Given the description of an element on the screen output the (x, y) to click on. 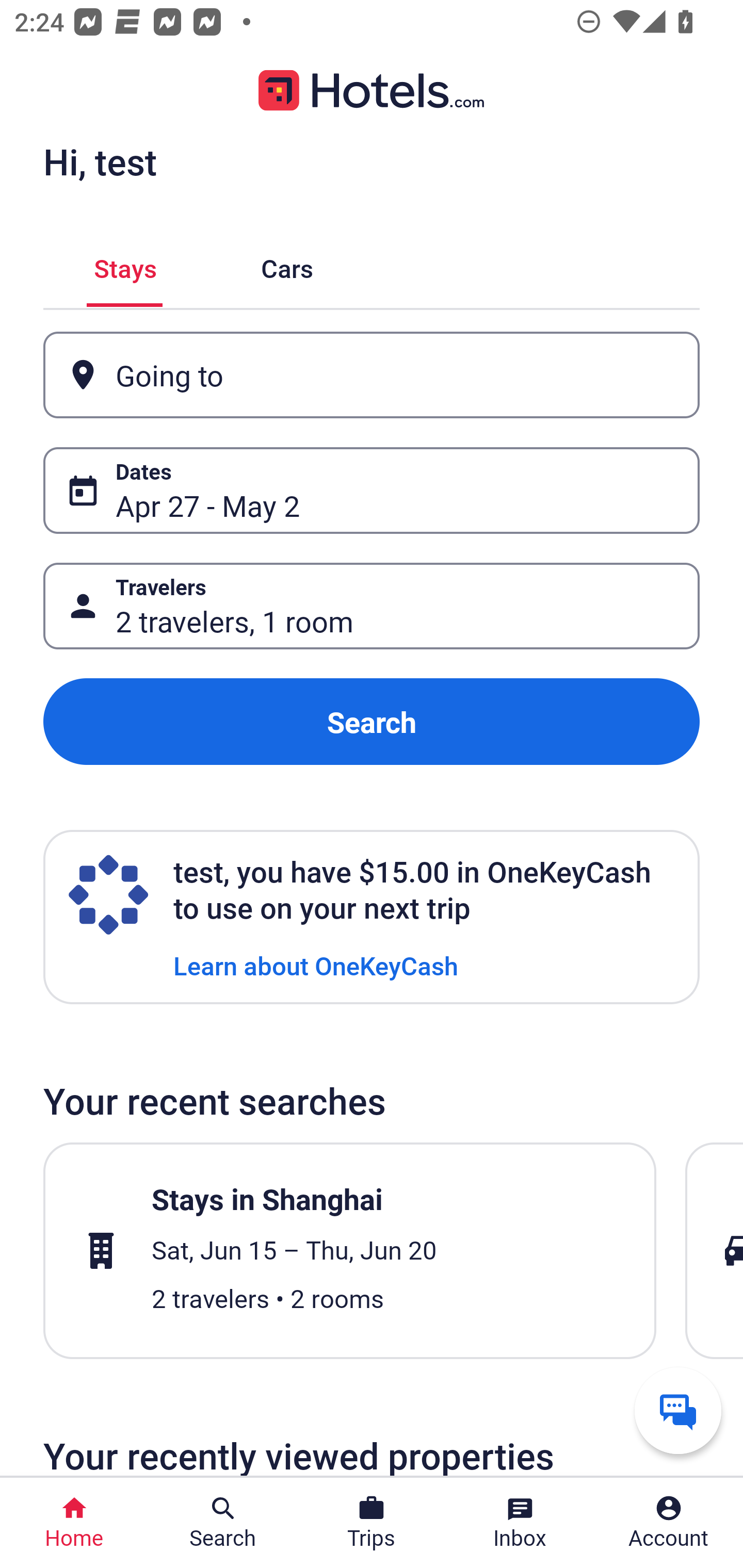
Hi, test (99, 161)
Cars (286, 265)
Going to Button (371, 375)
Dates Button Apr 27 - May 2 (371, 489)
Travelers Button 2 travelers, 1 room (371, 605)
Search (371, 721)
Learn about OneKeyCash Learn about OneKeyCash Link (315, 964)
Get help from a virtual agent (677, 1410)
Search Search Button (222, 1522)
Trips Trips Button (371, 1522)
Inbox Inbox Button (519, 1522)
Account Profile. Button (668, 1522)
